Given the description of an element on the screen output the (x, y) to click on. 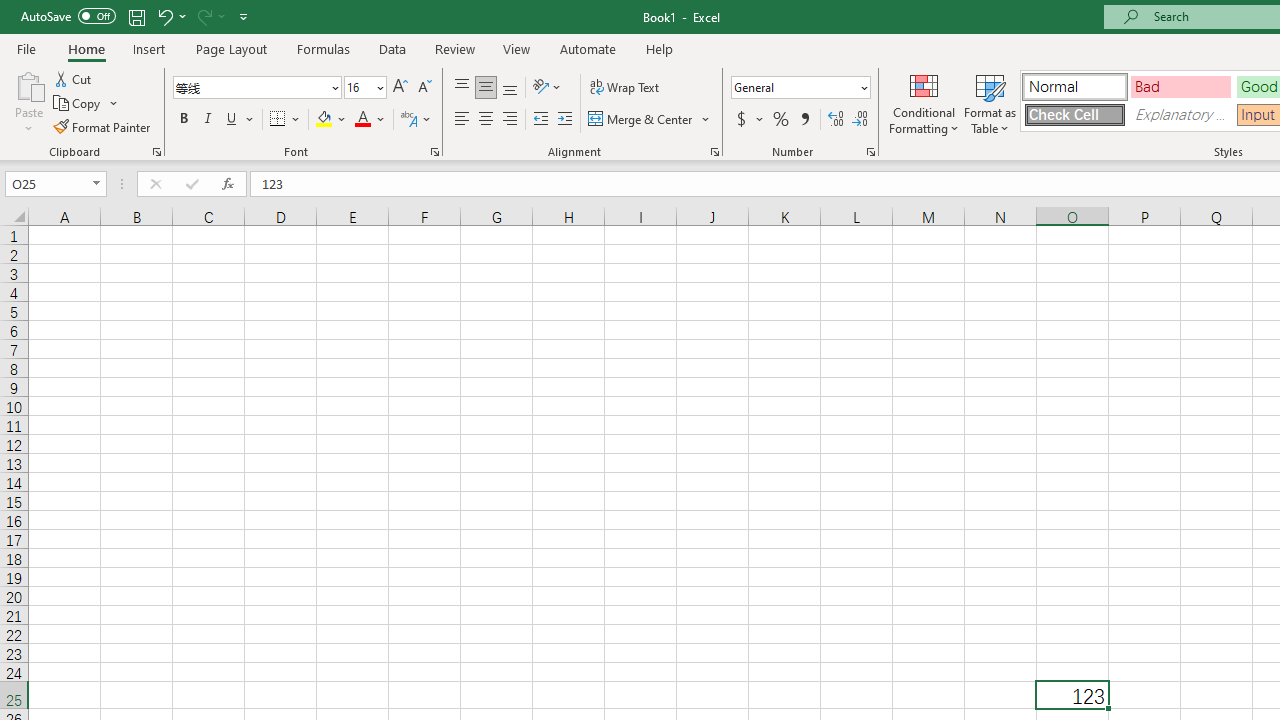
Accounting Number Format (741, 119)
Format Cell Font (434, 151)
Align Right (509, 119)
